Given the description of an element on the screen output the (x, y) to click on. 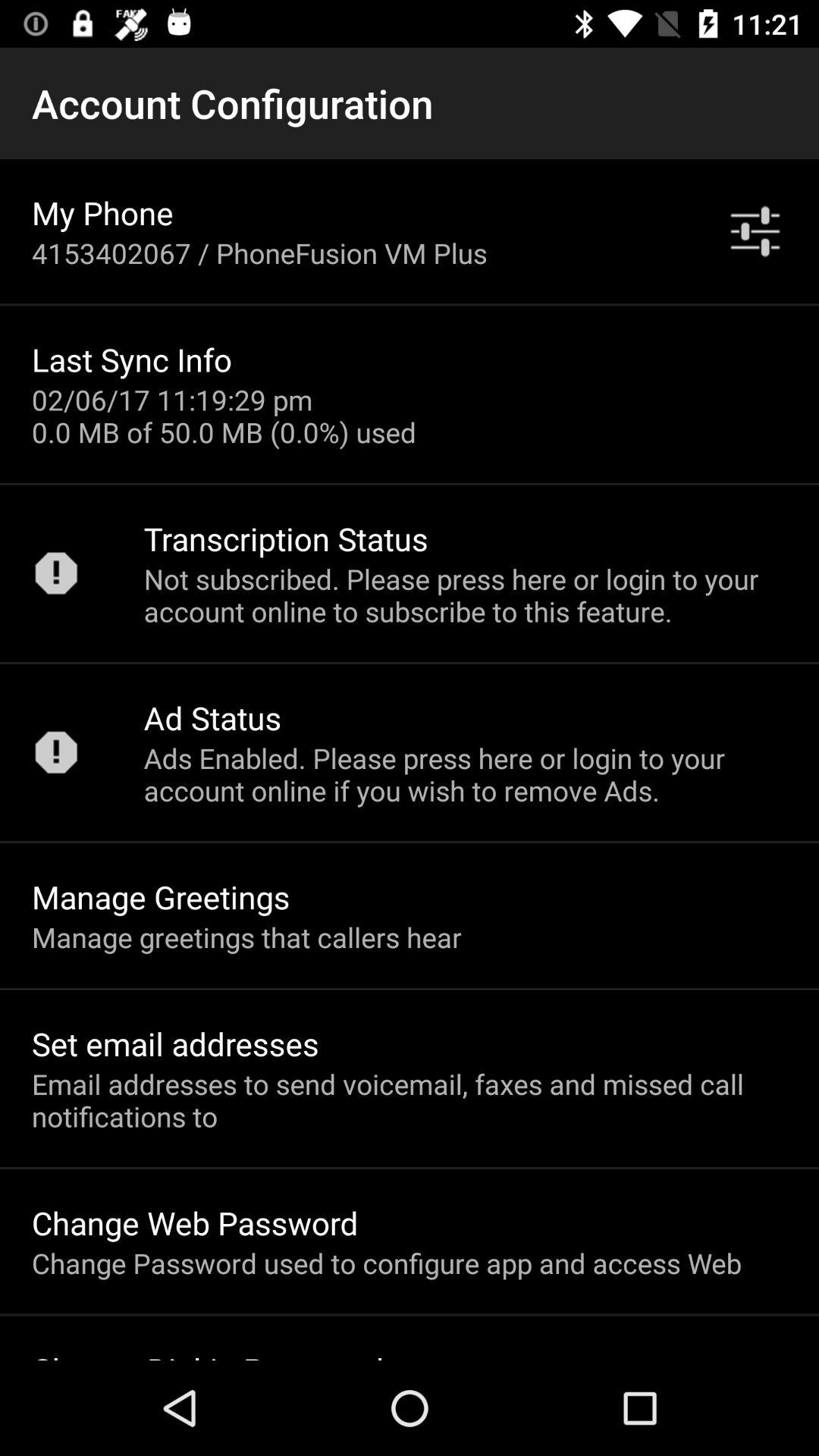
click the 02 06 17 item (223, 416)
